Given the description of an element on the screen output the (x, y) to click on. 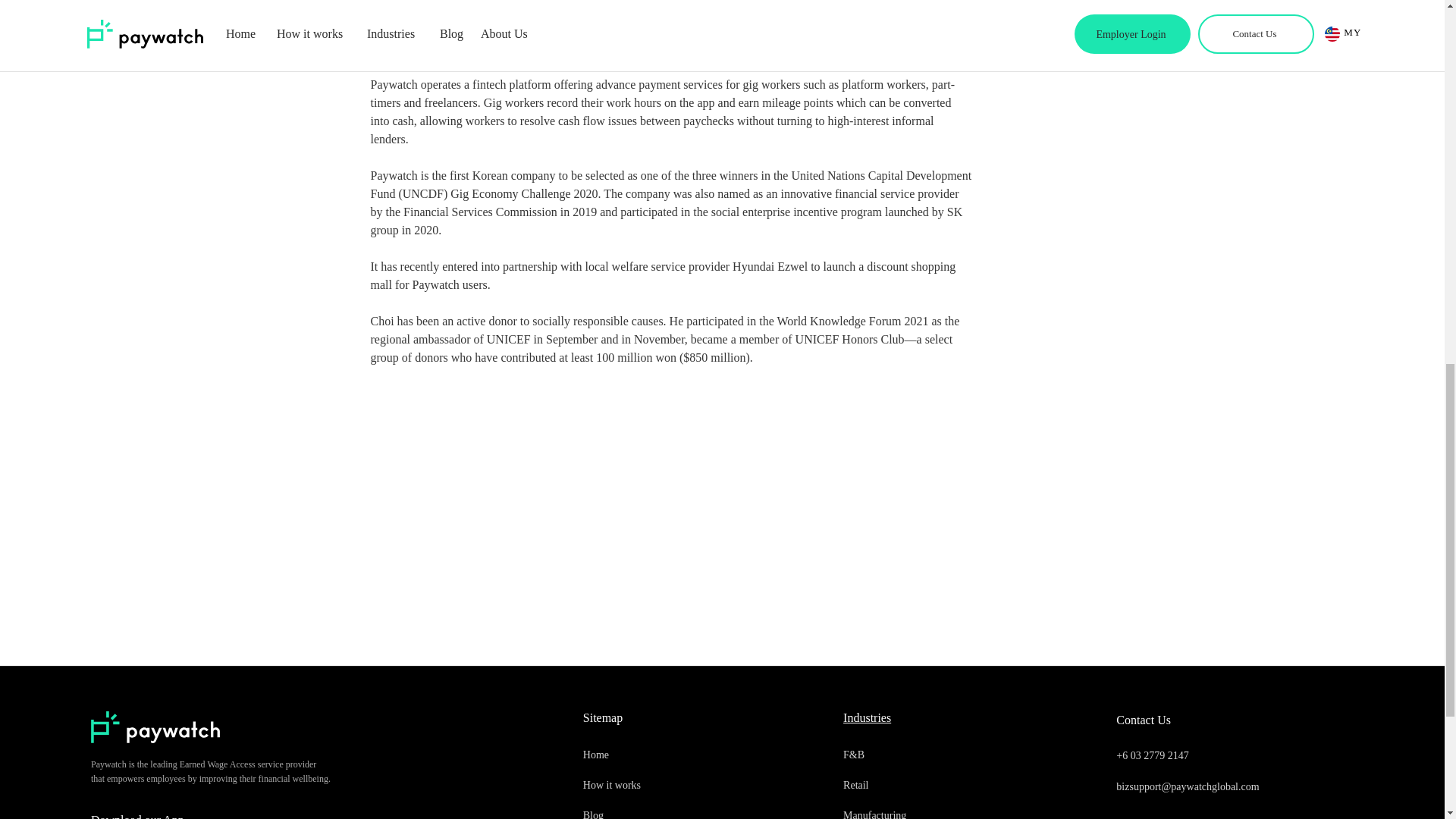
Retail (912, 785)
Blog (651, 809)
Home (651, 755)
Industries (867, 717)
Manufacturing (912, 809)
How it works (651, 785)
